Given the description of an element on the screen output the (x, y) to click on. 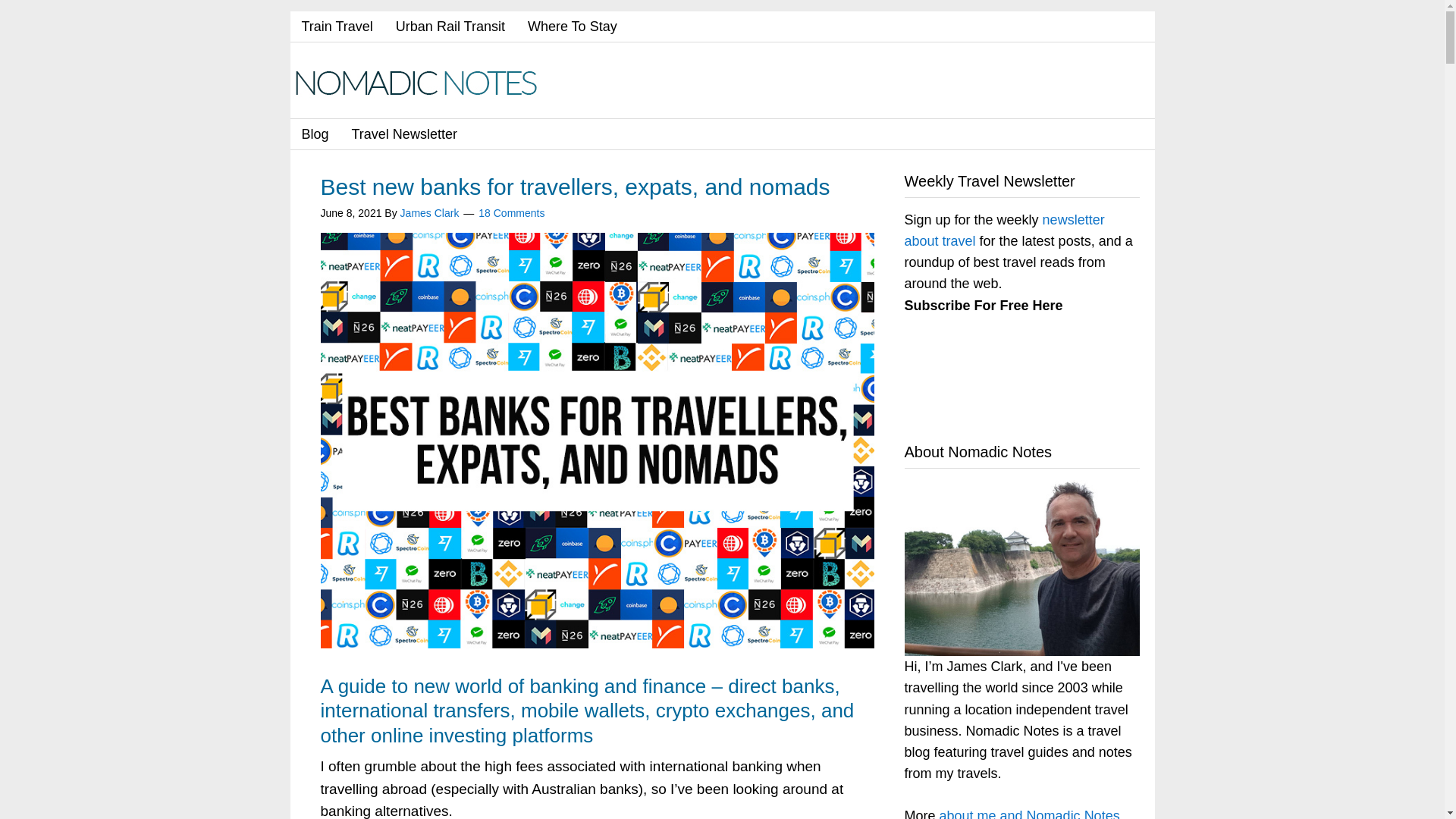
Blog (314, 133)
Urban Rail Transit (450, 26)
18 Comments (511, 212)
Train Travel (336, 26)
Where To Stay (572, 26)
James Clark (430, 212)
Nomadic Notes (425, 81)
Travel Newsletter (404, 133)
